Given the description of an element on the screen output the (x, y) to click on. 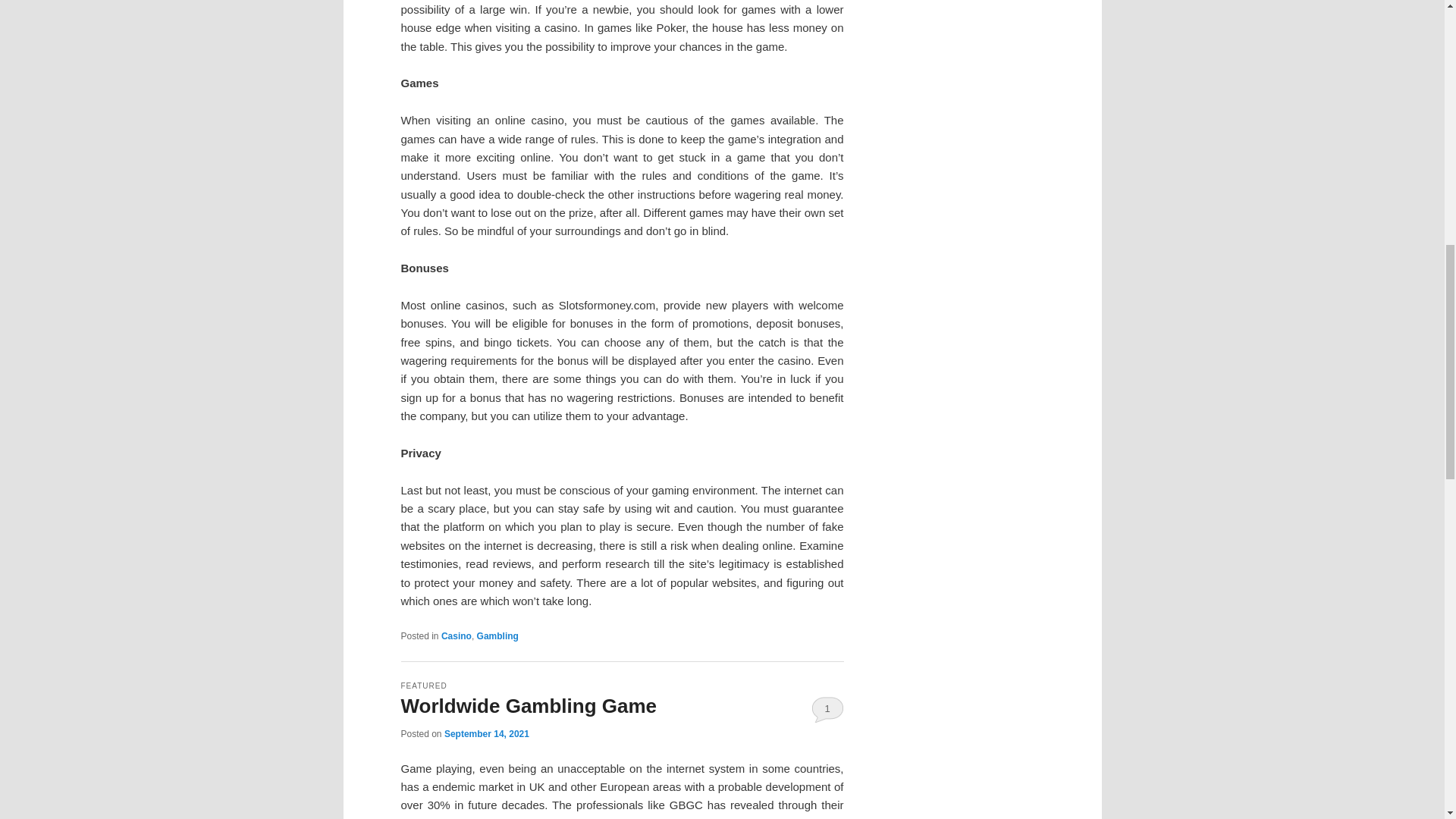
Gambling (497, 635)
9:12 am (486, 733)
1 (827, 708)
September 14, 2021 (486, 733)
Worldwide Gambling Game (528, 705)
Casino (456, 635)
